Given the description of an element on the screen output the (x, y) to click on. 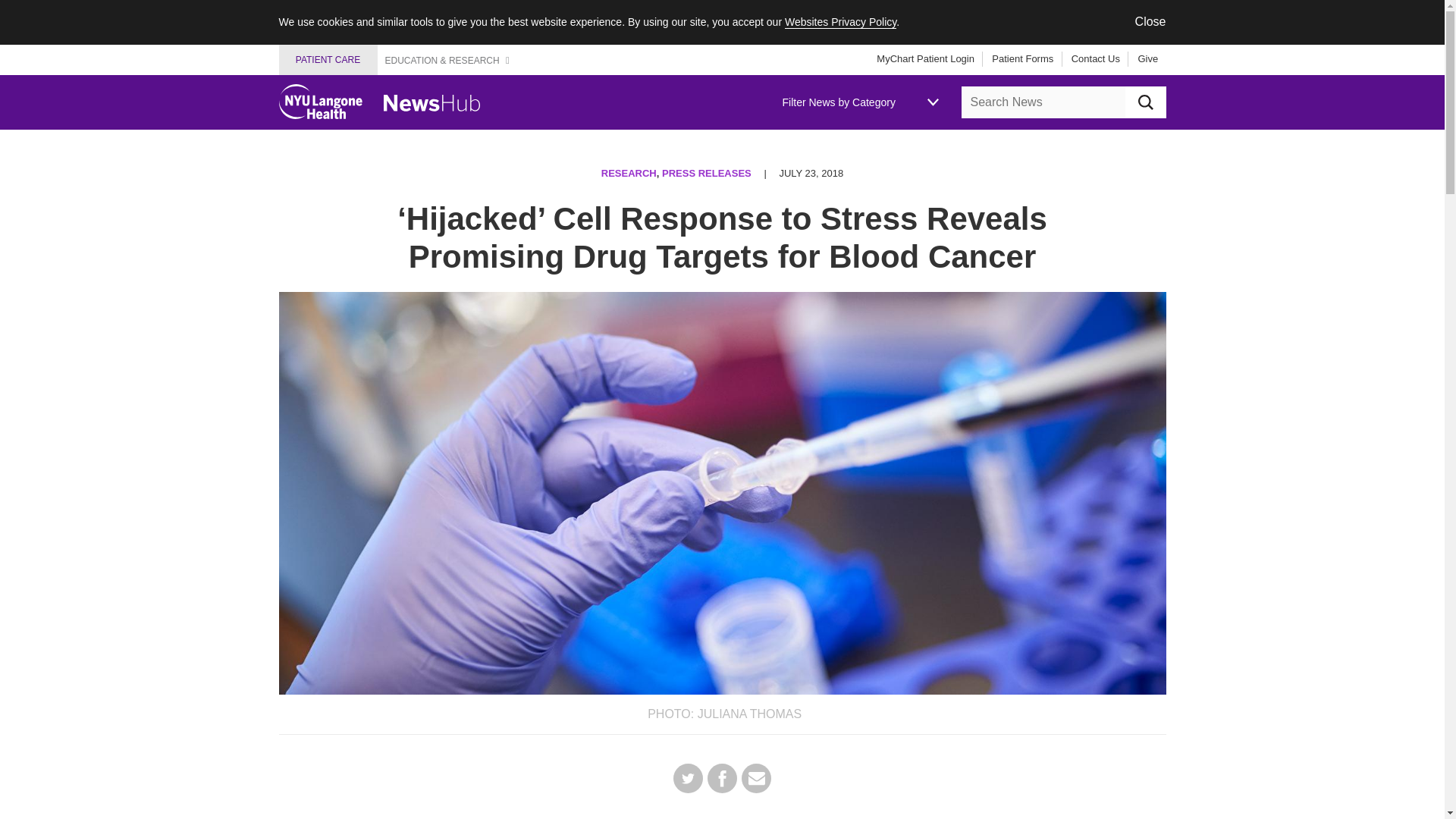
Email (756, 778)
Filter News by Category (860, 102)
Facebook (721, 778)
Patient Forms (1016, 58)
PATIENT CARE (327, 59)
RESEARCH (628, 173)
Facebook (721, 778)
Twitter (687, 778)
Contact Us (1090, 58)
Give (1141, 58)
Websites Privacy Policy (840, 21)
Search (1145, 101)
PRESS RELEASES (706, 173)
Search (1145, 101)
Email (756, 778)
